Given the description of an element on the screen output the (x, y) to click on. 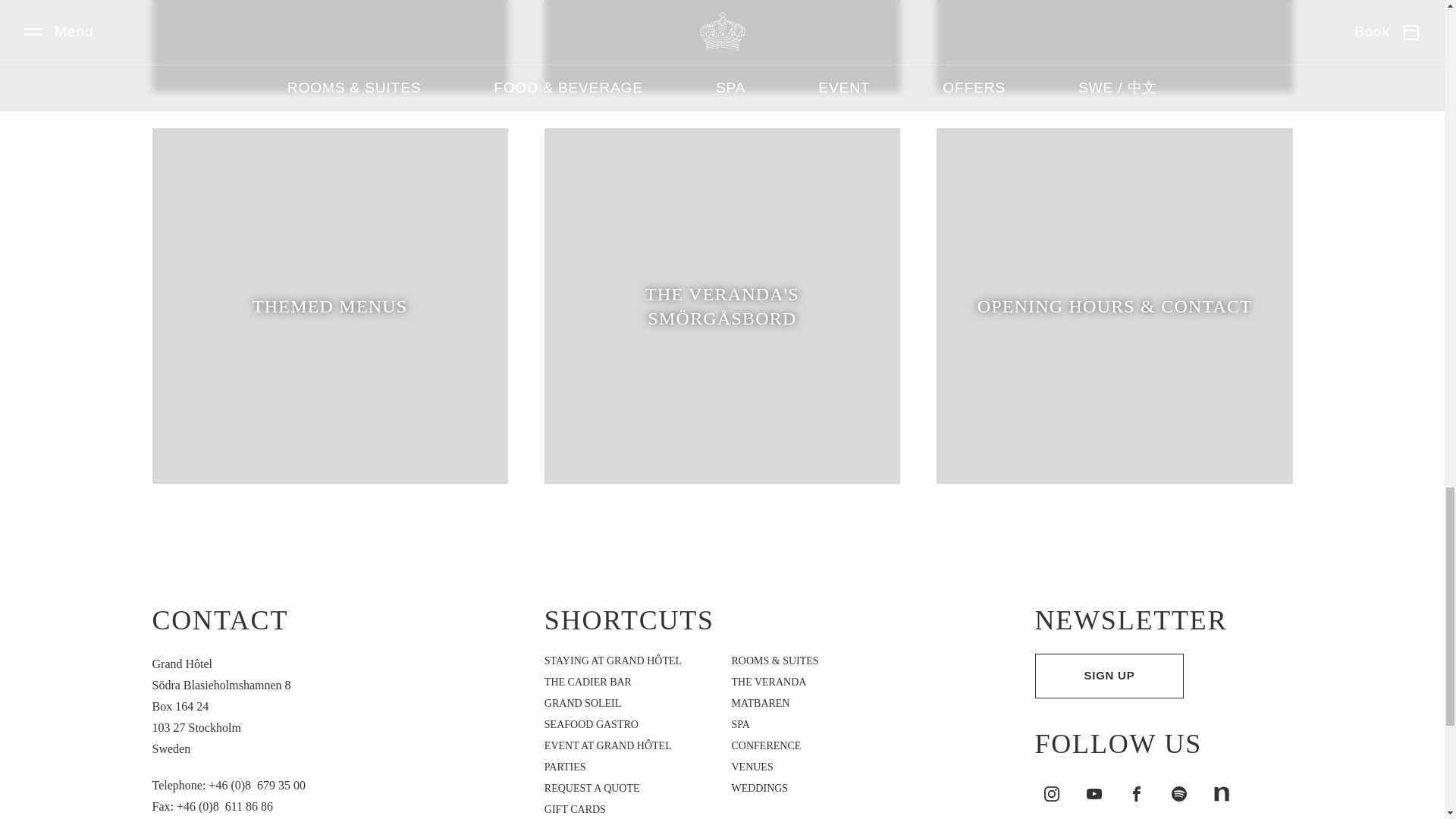
Lunch (328, 45)
Breakfast (1114, 45)
Themed menus (328, 305)
